Given the description of an element on the screen output the (x, y) to click on. 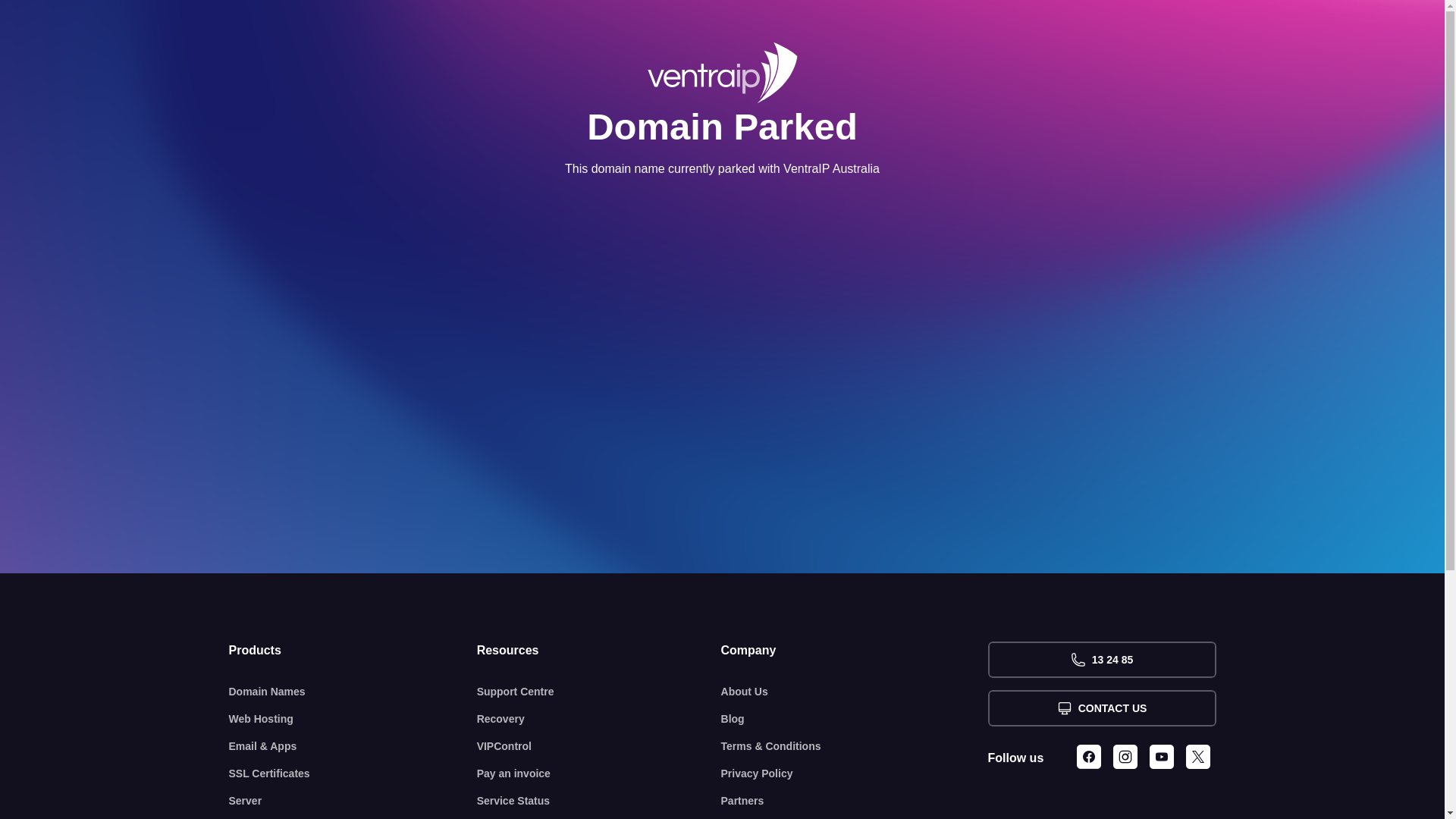
Email & Apps Element type: text (352, 745)
Web Hosting Element type: text (352, 718)
Partners Element type: text (854, 800)
VIPControl Element type: text (598, 745)
Domain Names Element type: text (352, 691)
Support Centre Element type: text (598, 691)
Terms & Conditions Element type: text (854, 745)
Blog Element type: text (854, 718)
SSL Certificates Element type: text (352, 773)
Privacy Policy Element type: text (854, 773)
Pay an invoice Element type: text (598, 773)
Service Status Element type: text (598, 800)
About Us Element type: text (854, 691)
CONTACT US Element type: text (1101, 708)
Server Element type: text (352, 800)
13 24 85 Element type: text (1101, 659)
Recovery Element type: text (598, 718)
